Given the description of an element on the screen output the (x, y) to click on. 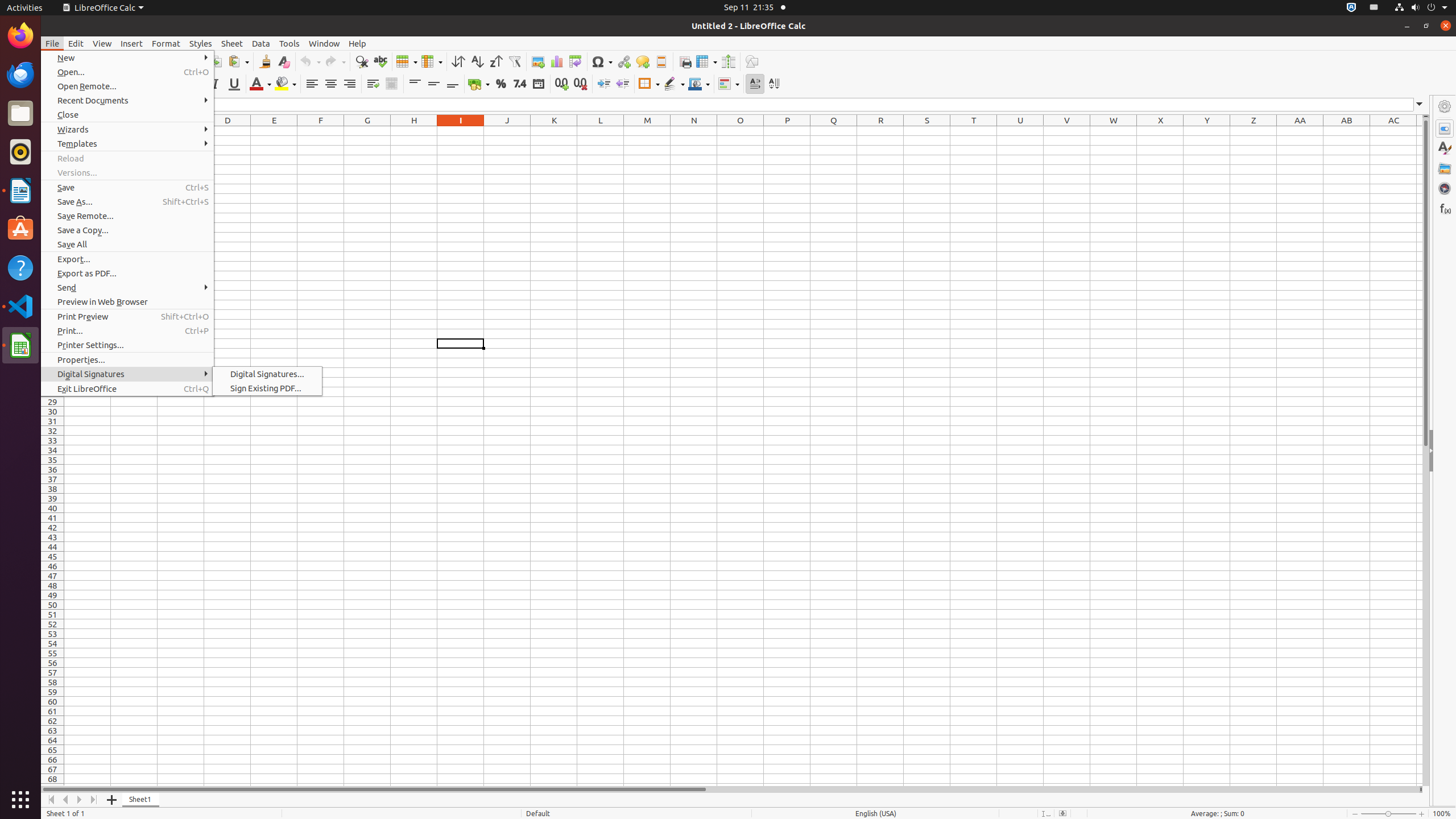
Align Bottom Element type: push-button (452, 83)
Wrap Text Element type: push-button (372, 83)
Properties Element type: panel (1444, 450)
Align Top Element type: push-button (414, 83)
Font Color Element type: push-button (260, 83)
